Given the description of an element on the screen output the (x, y) to click on. 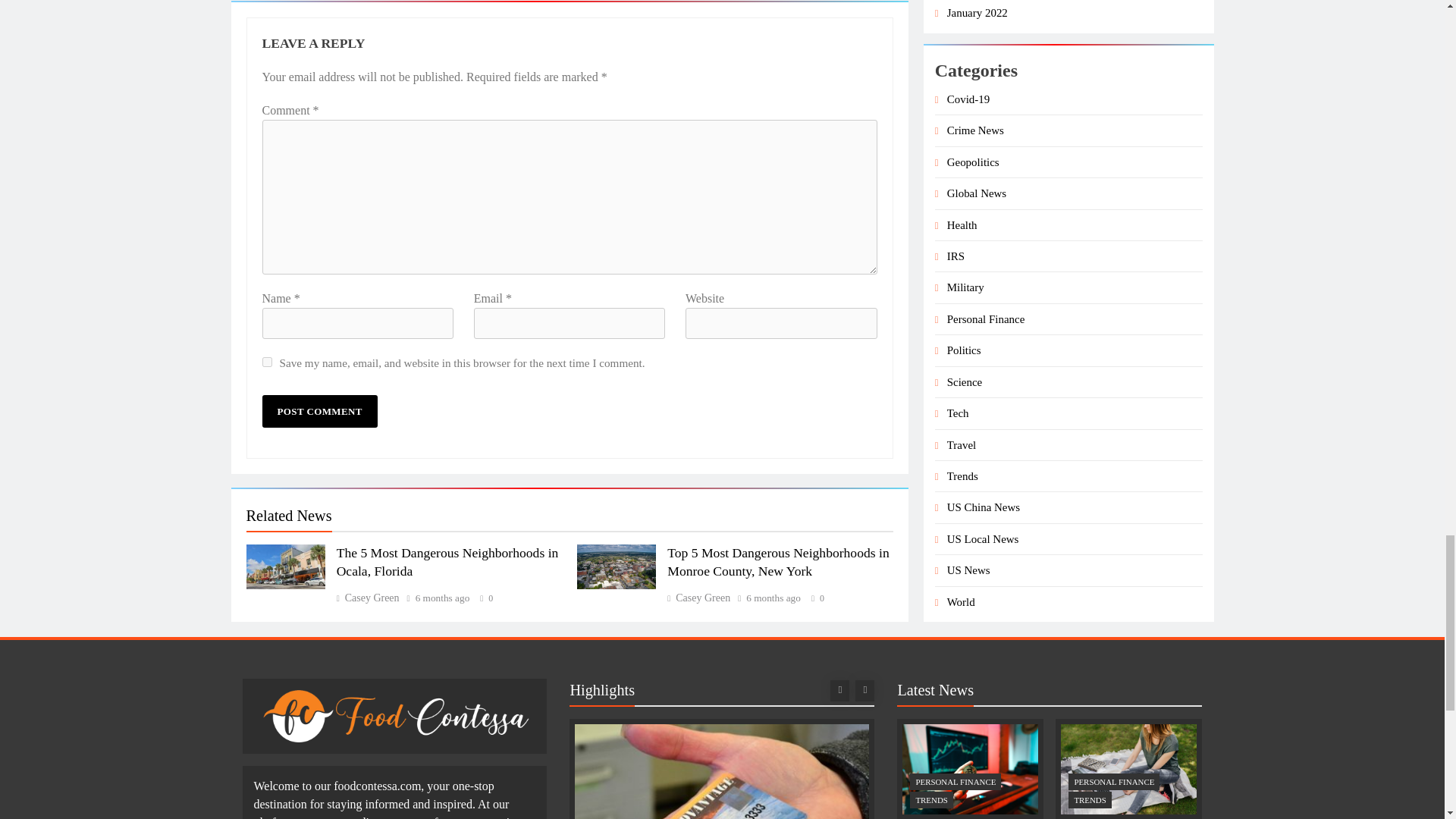
Post Comment (319, 410)
yes (267, 361)
